Given the description of an element on the screen output the (x, y) to click on. 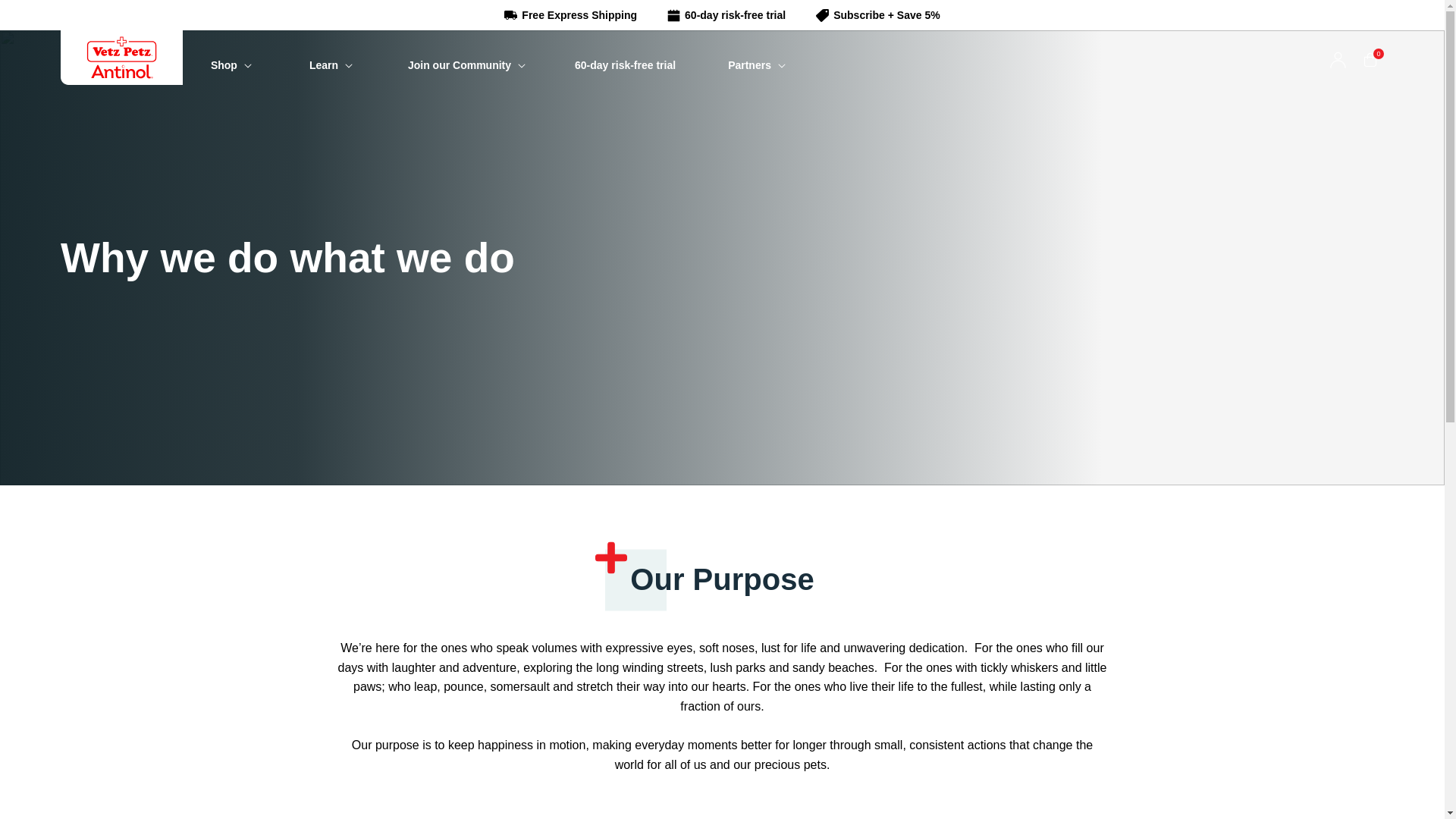
Log in (1338, 56)
60-day risk-free trial (726, 15)
60-day risk-free trial (627, 66)
